Given the description of an element on the screen output the (x, y) to click on. 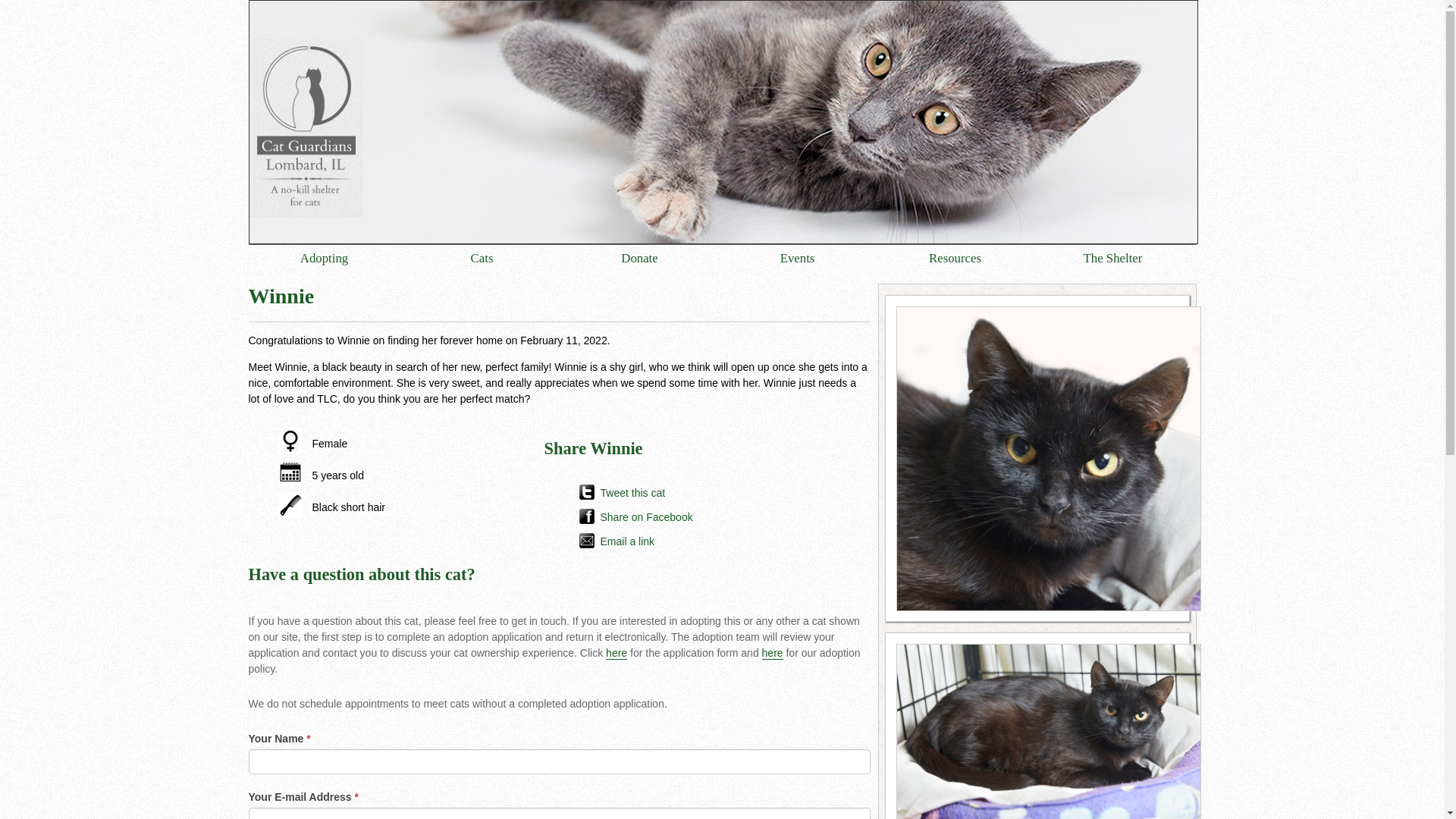
Share on Facebook (700, 514)
Tweet this cat (700, 490)
Events (797, 257)
Email a link (700, 538)
here (616, 653)
Adopting (323, 257)
Cats (481, 257)
Donate (639, 257)
here (772, 653)
